Given the description of an element on the screen output the (x, y) to click on. 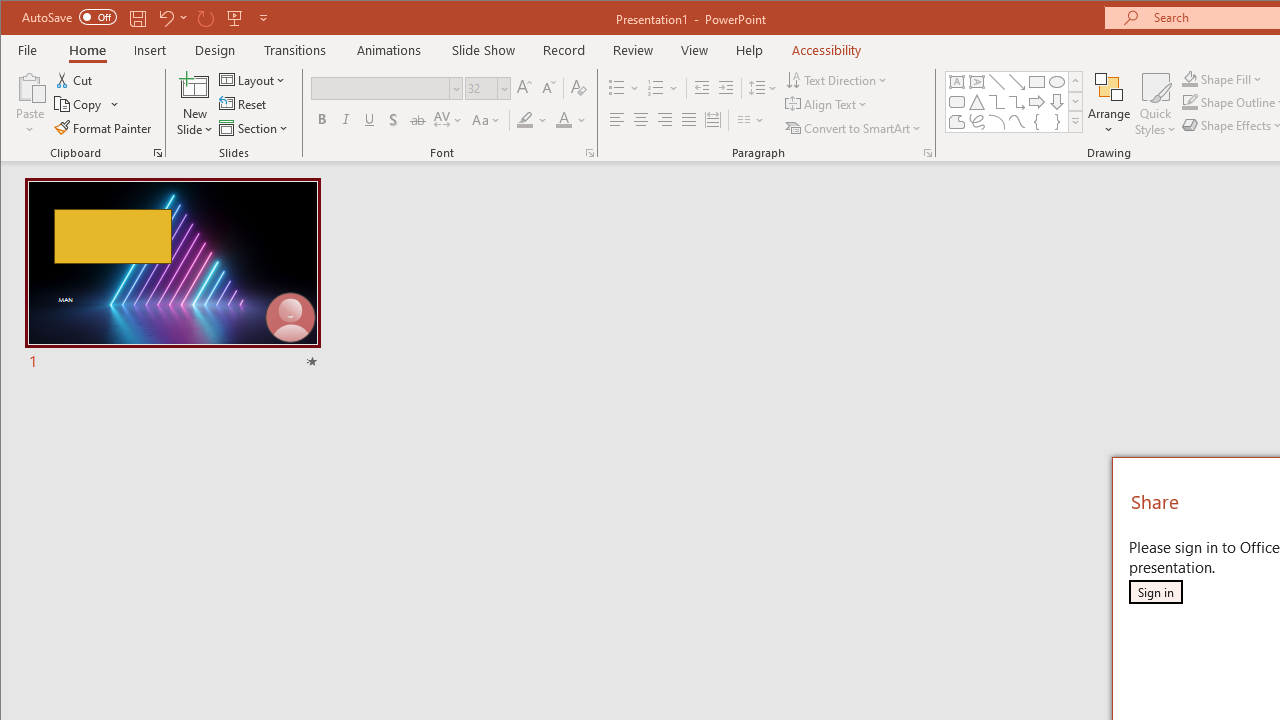
Sign in (1155, 592)
